Given the description of an element on the screen output the (x, y) to click on. 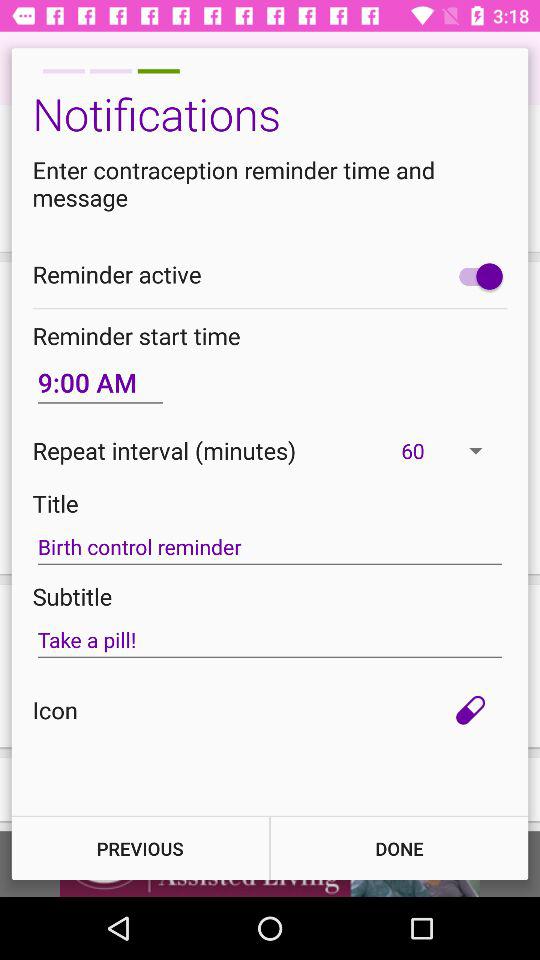
turn on icon to the right of reminder active (476, 275)
